Given the description of an element on the screen output the (x, y) to click on. 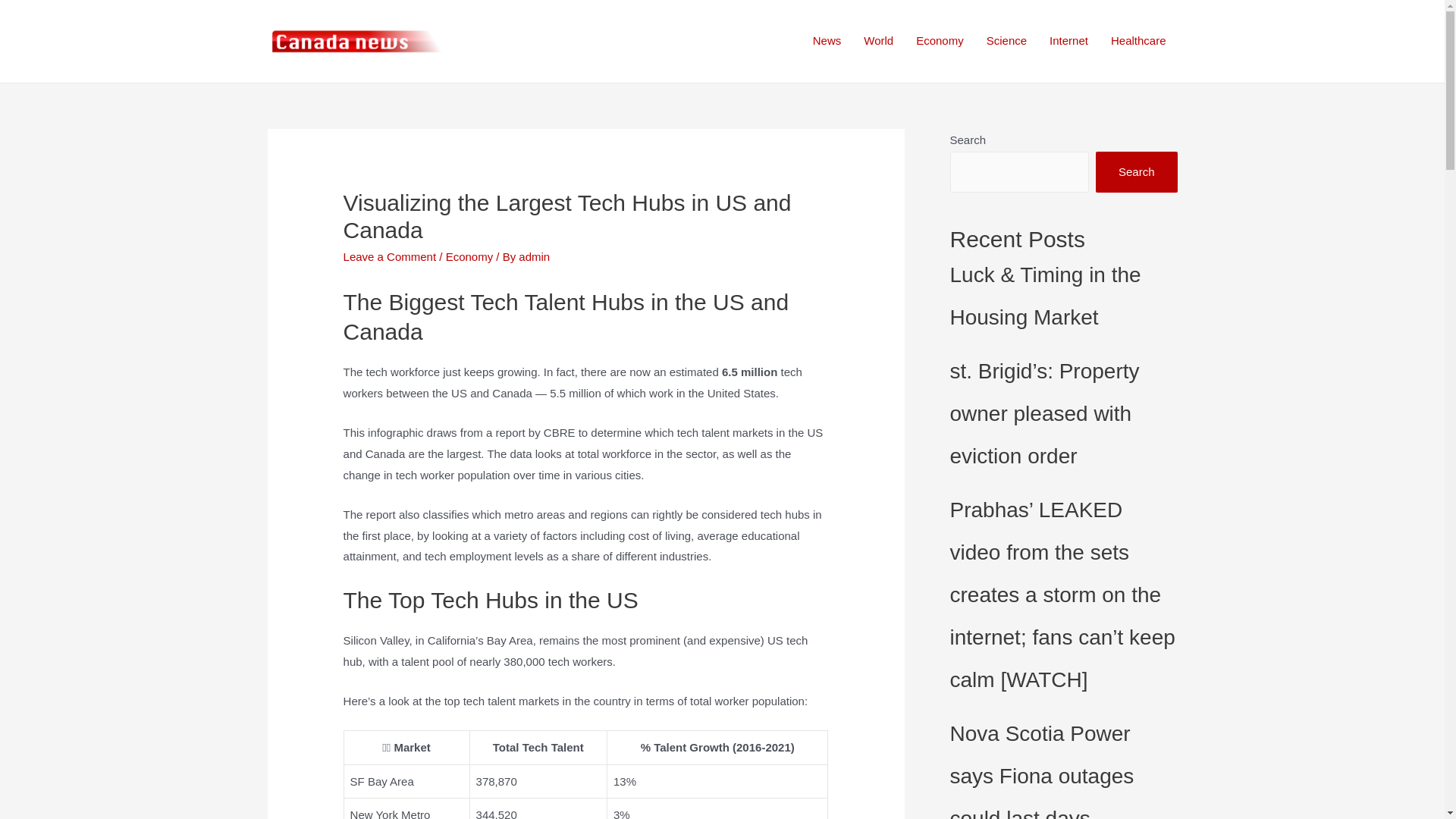
Economy Element type: text (469, 256)
admin Element type: text (533, 256)
Healthcare Element type: text (1138, 40)
Science Element type: text (1006, 40)
Luck & Timing in the Housing Market Element type: text (1044, 296)
News Element type: text (827, 40)
Search Element type: text (1136, 172)
Internet Element type: text (1068, 40)
Economy Element type: text (939, 40)
Leave a Comment Element type: text (389, 256)
World Element type: text (878, 40)
